Given the description of an element on the screen output the (x, y) to click on. 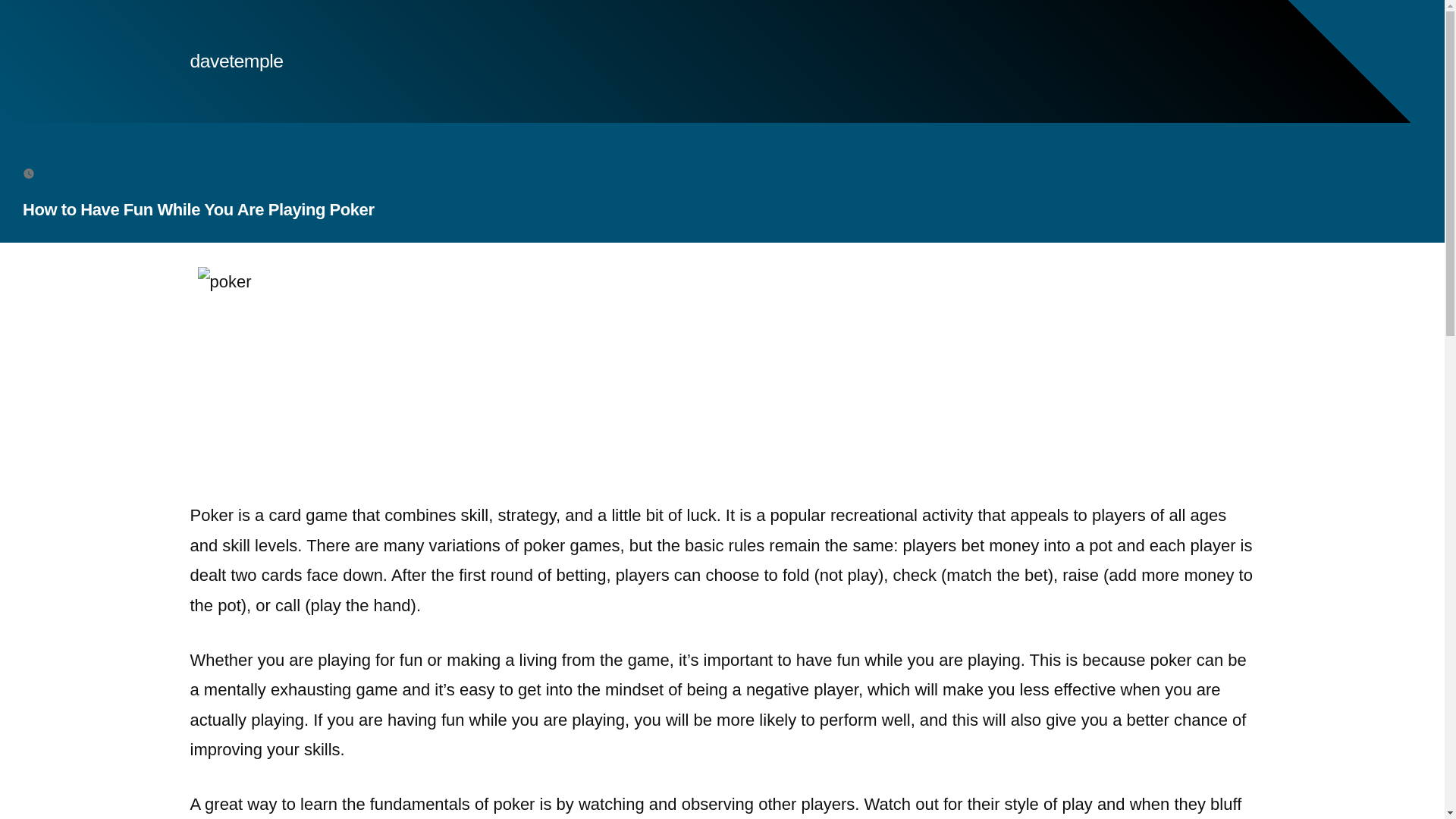
davetemple (235, 60)
February 7, 2023 (85, 172)
